Given the description of an element on the screen output the (x, y) to click on. 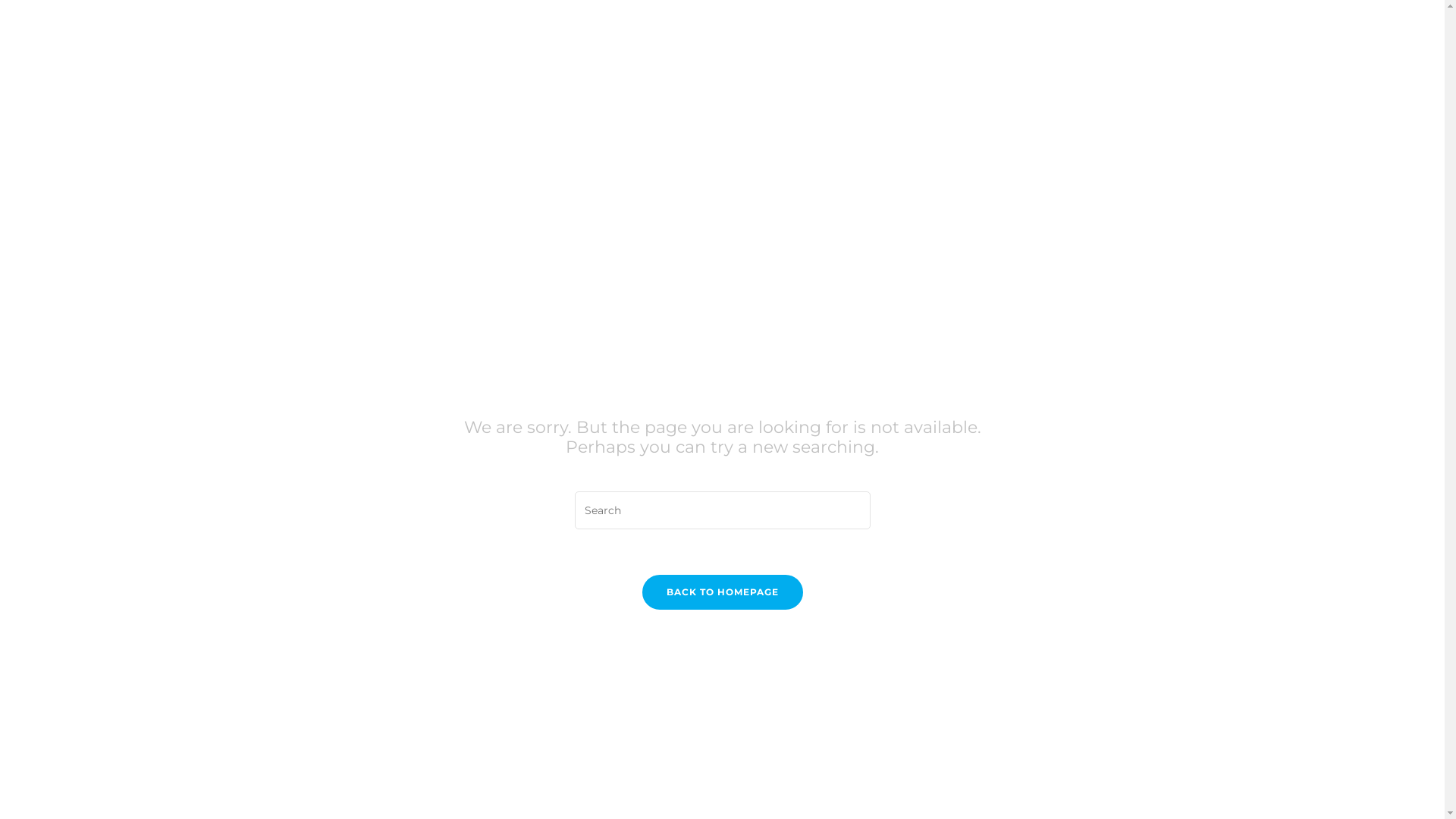
BACK TO HOMEPAGE Element type: text (721, 591)
